Given the description of an element on the screen output the (x, y) to click on. 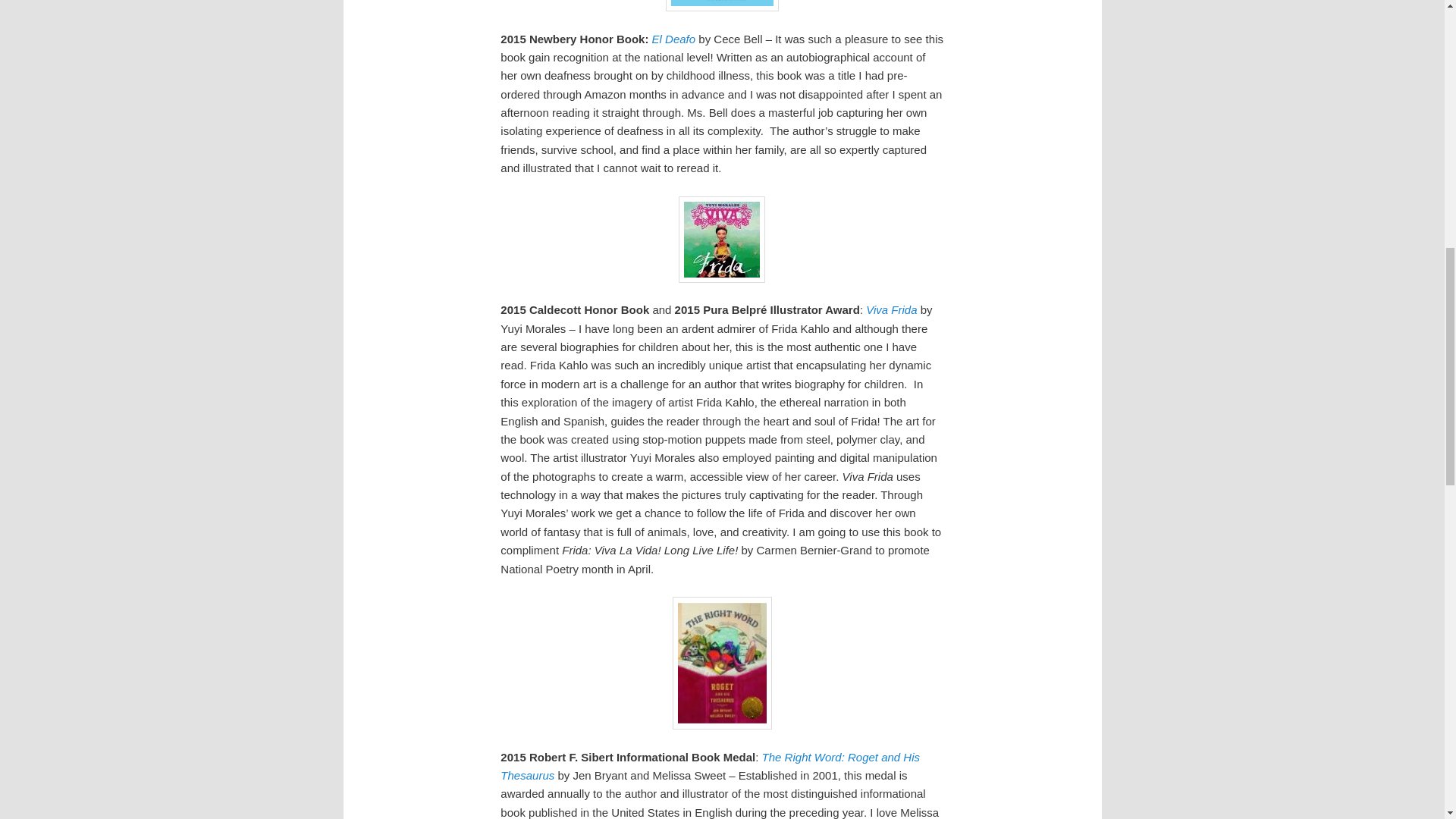
The Right Word: Roget and His Thesaurus (710, 766)
Viva Frida (891, 309)
El Deafo (673, 38)
